Given the description of an element on the screen output the (x, y) to click on. 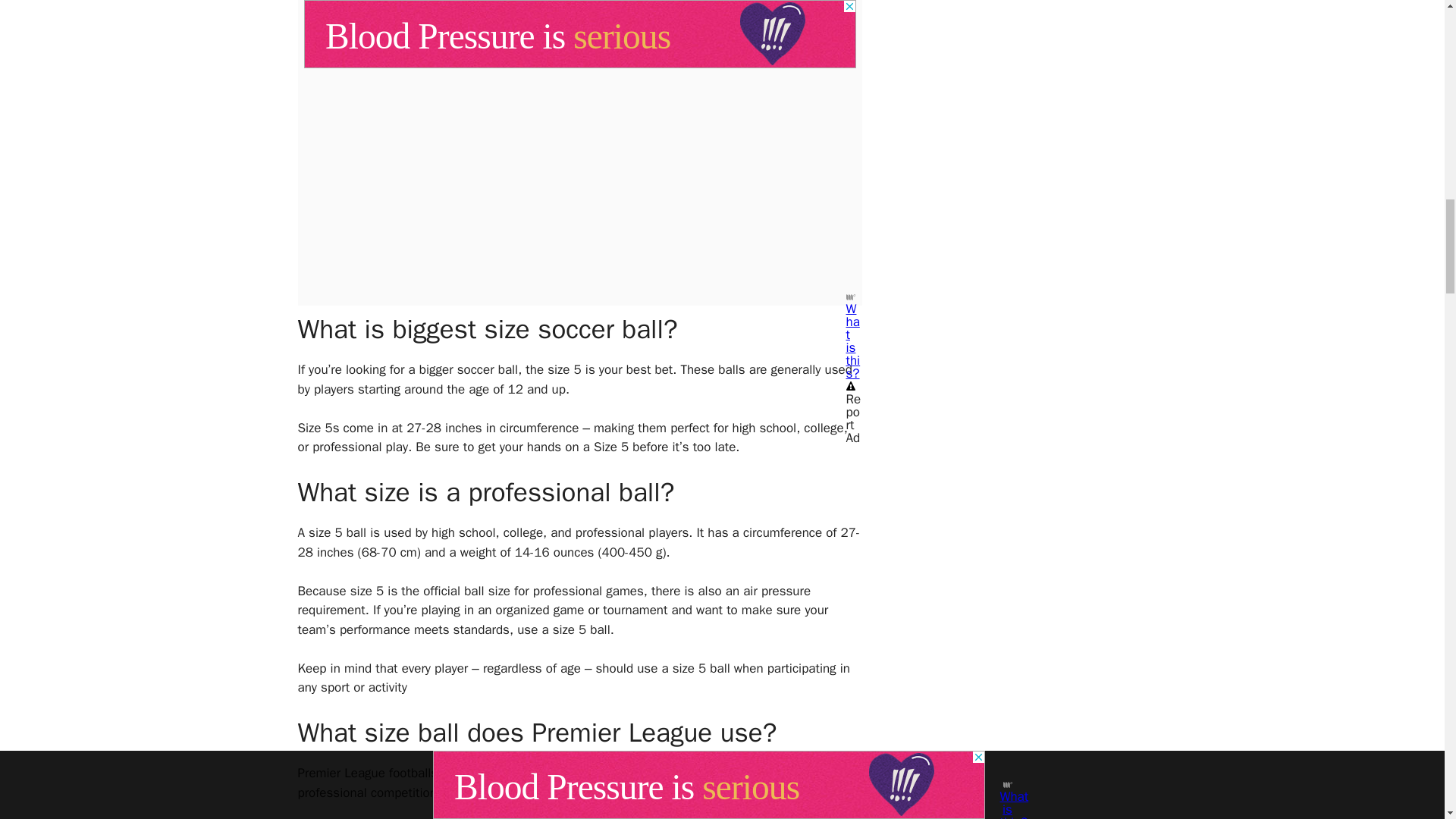
3rd party ad content (579, 20)
